Given the description of an element on the screen output the (x, y) to click on. 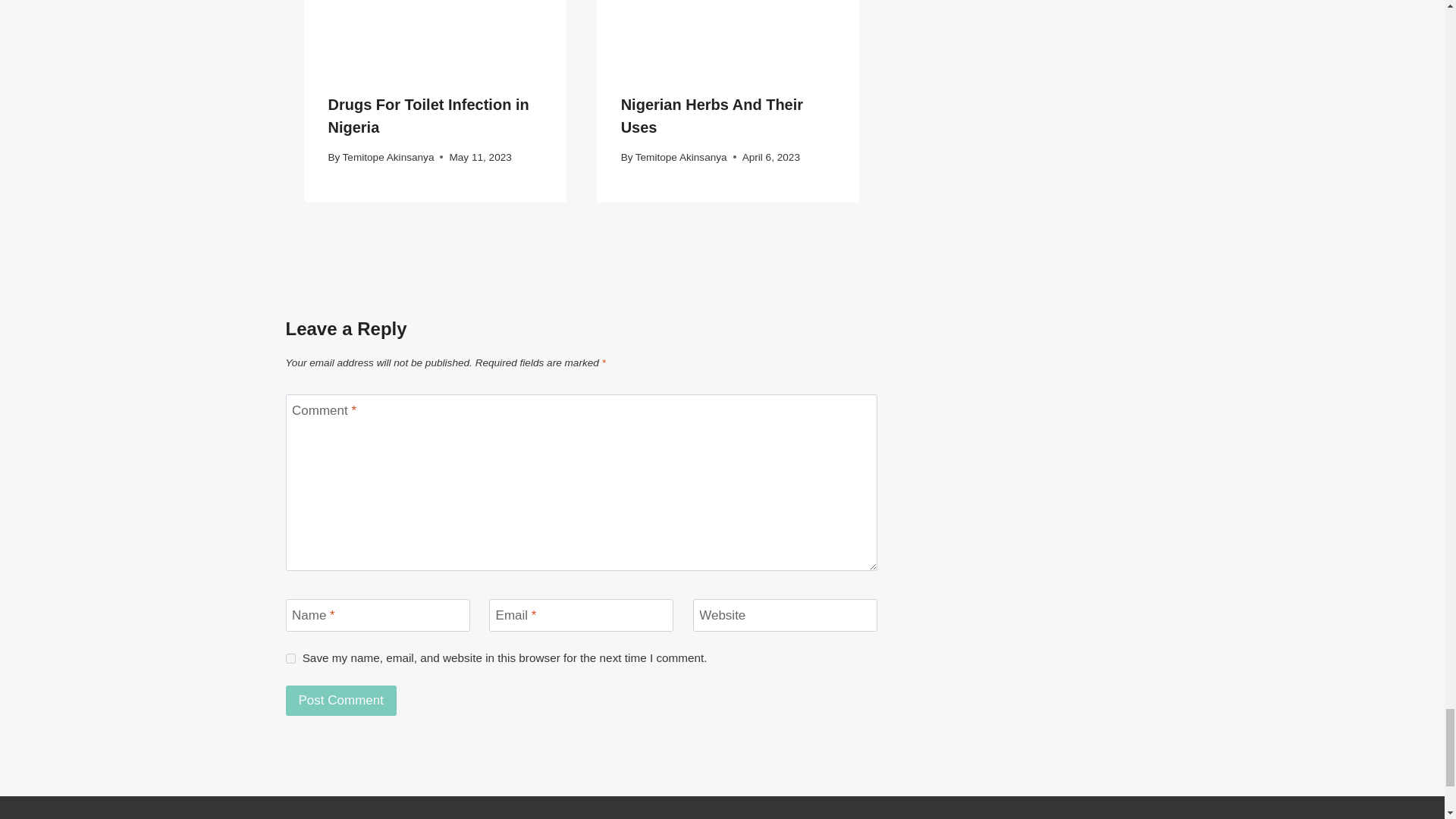
yes (290, 658)
Drugs For Toilet Infection in Nigeria  (427, 115)
Post Comment (340, 700)
